Given the description of an element on the screen output the (x, y) to click on. 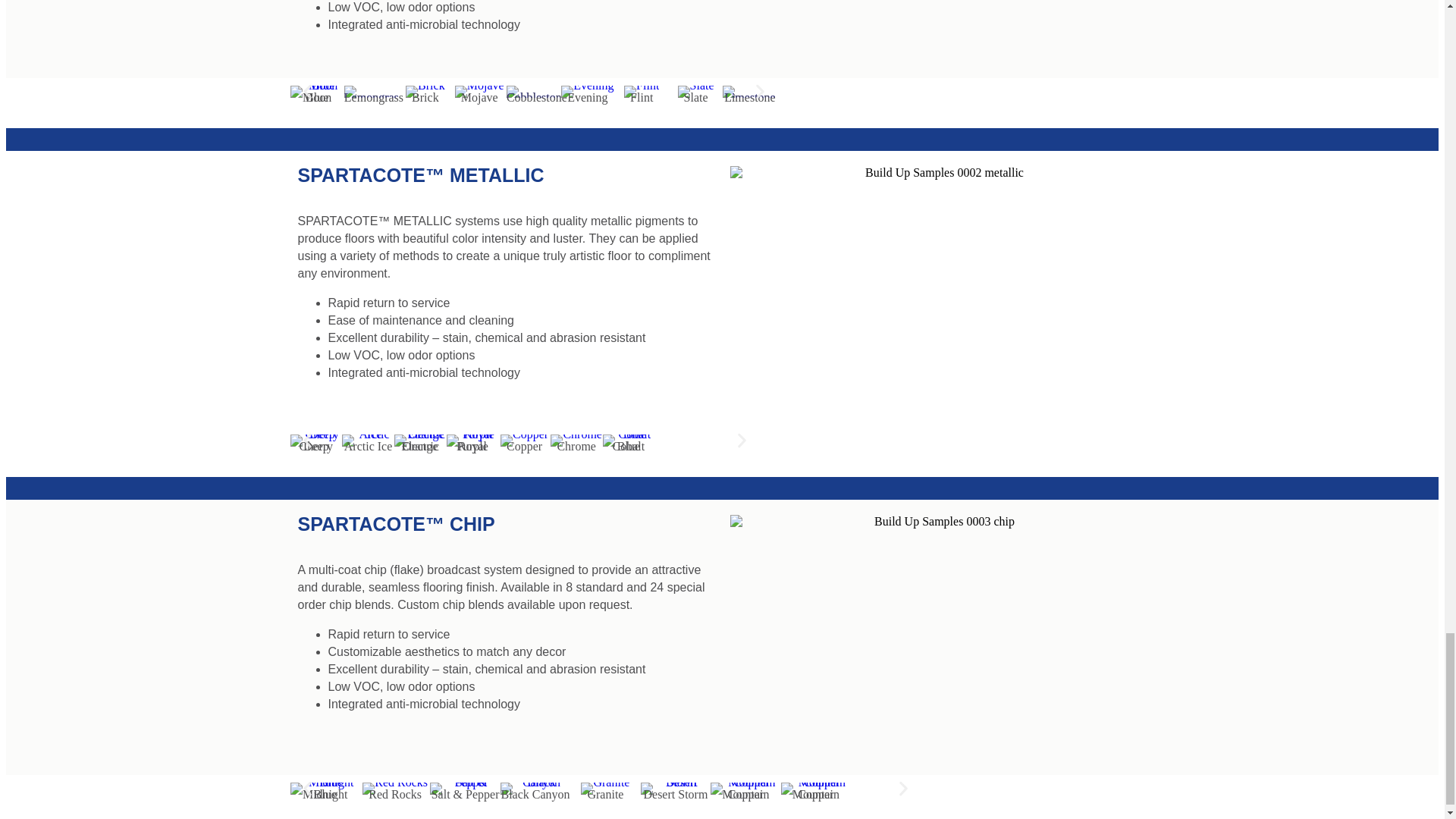
Limestone (749, 91)
Cobblestone (533, 91)
Mojave (479, 91)
Slate (695, 91)
Blue Moon (316, 91)
Flint (641, 91)
Lemongrass (370, 91)
Brick (424, 91)
Evening (587, 91)
